Given the description of an element on the screen output the (x, y) to click on. 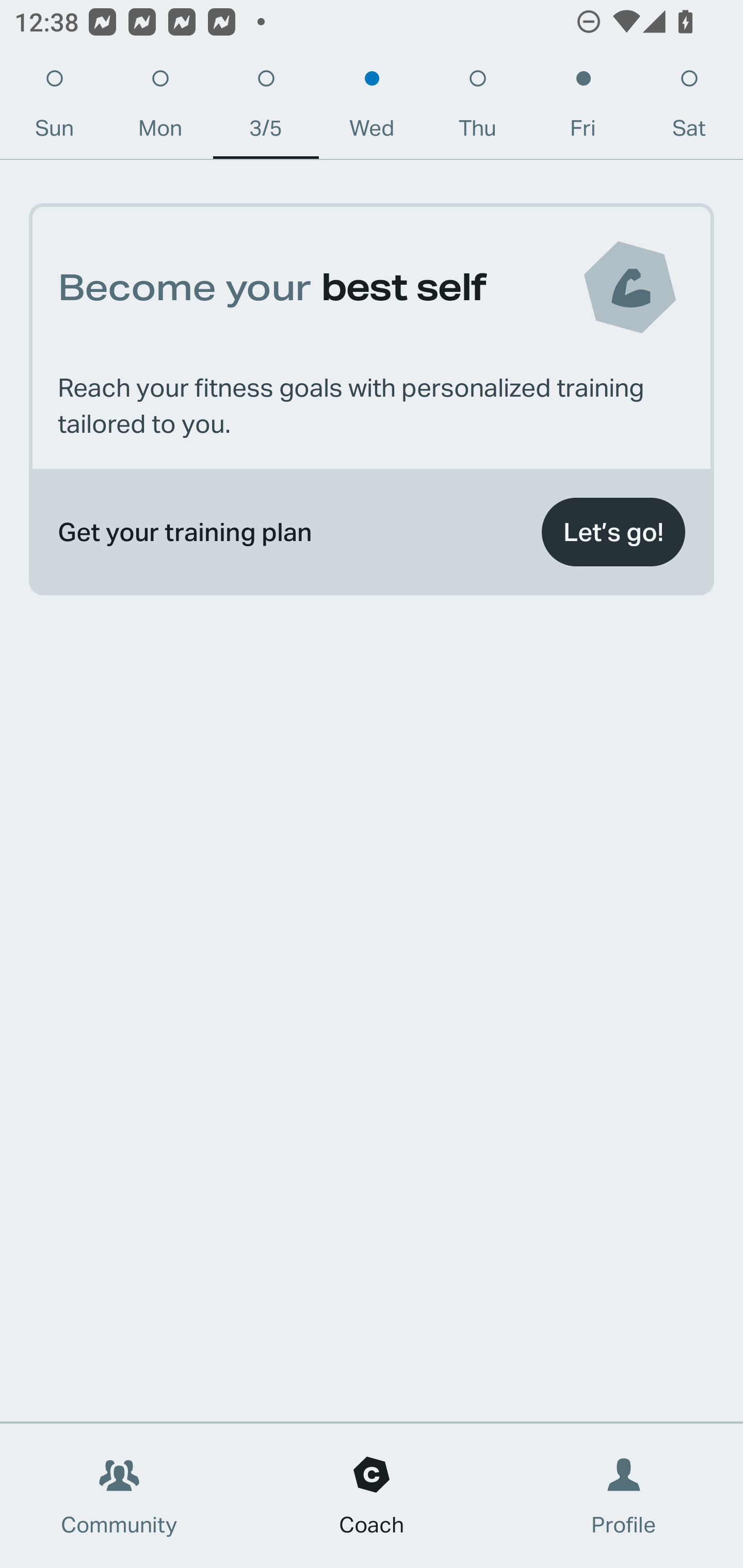
Sun (53, 108)
Mon (159, 108)
3/5 (265, 108)
Wed (371, 108)
Thu (477, 108)
Fri (583, 108)
Sat (689, 108)
Let’s go! (613, 532)
Community (119, 1495)
Profile (624, 1495)
